Given the description of an element on the screen output the (x, y) to click on. 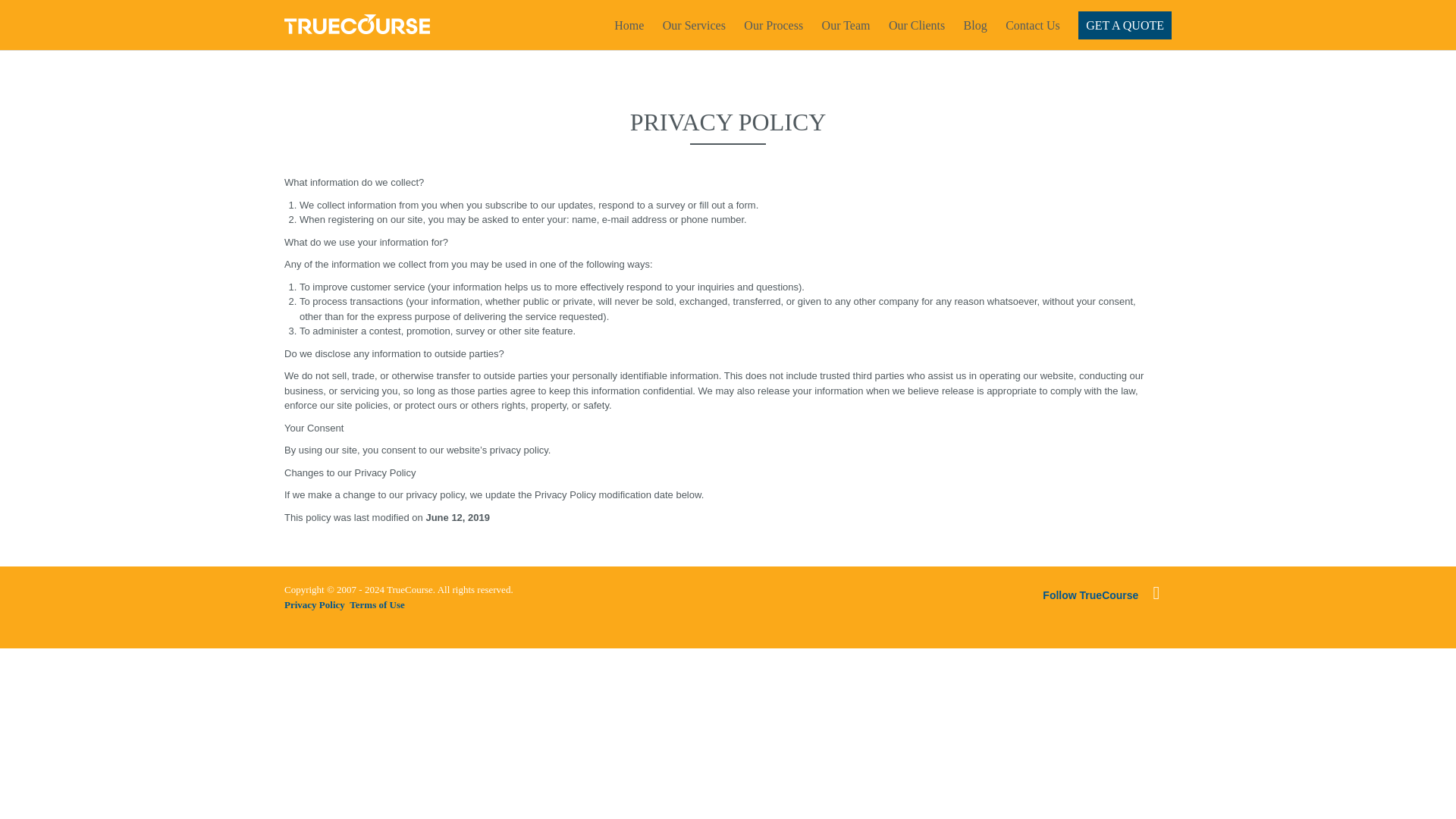
GET A QUOTE (1125, 25)
Terms of Use (376, 604)
Blog (975, 24)
Home (628, 24)
Privacy Policy (314, 604)
logo (356, 24)
Our Services (693, 24)
Contact Us (1032, 24)
Privacy Policy (314, 604)
Our Clients (916, 24)
Our Process (773, 24)
Terms of Use (376, 604)
Our Team (846, 24)
